Given the description of an element on the screen output the (x, y) to click on. 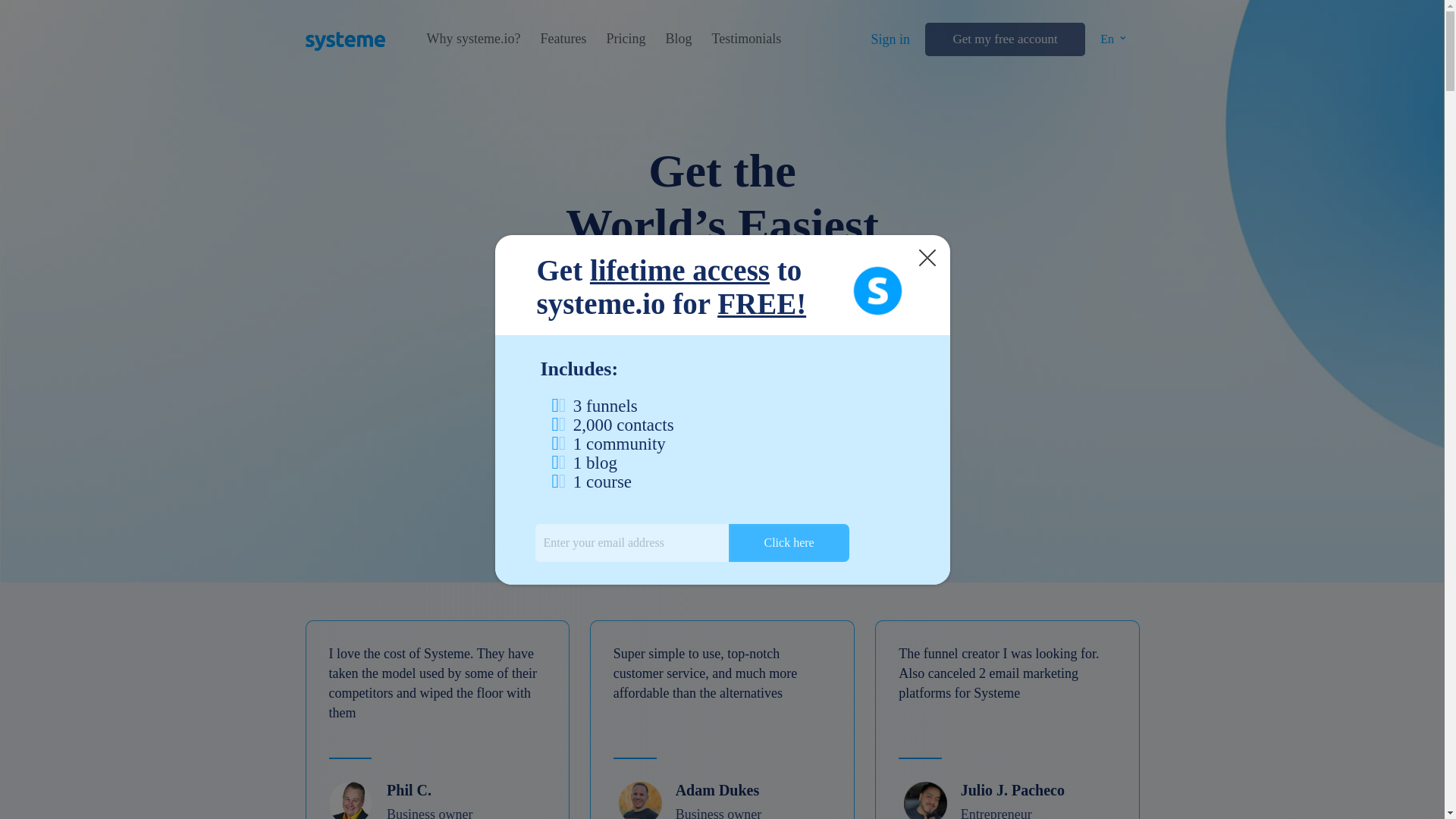
Pricing (625, 38)
Sign in (890, 39)
Why systeme.io? (472, 38)
Testimonials (745, 38)
Blog (678, 38)
Features (563, 38)
Get my free account (1004, 39)
